Given the description of an element on the screen output the (x, y) to click on. 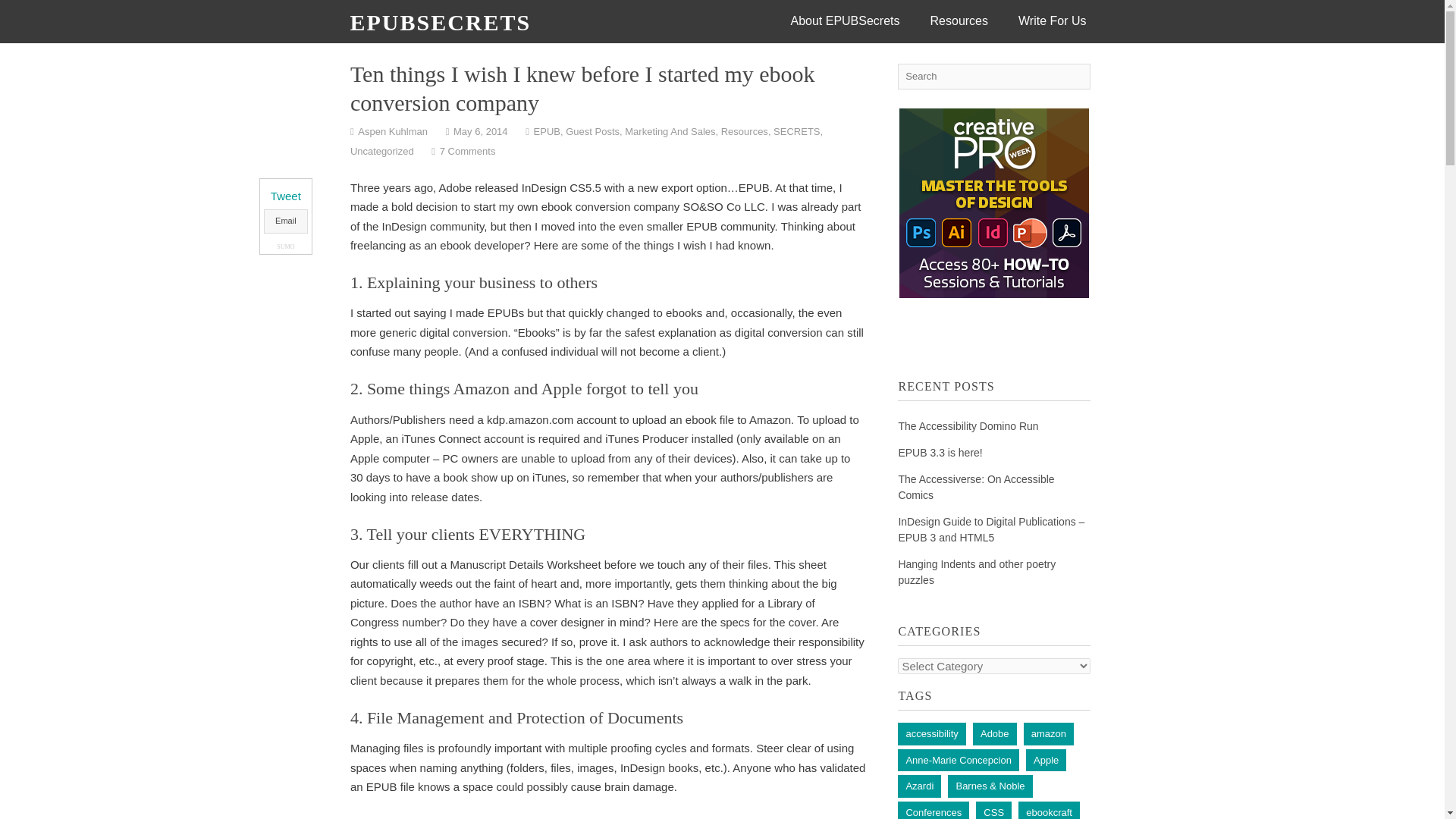
SUMO (285, 246)
About EPUBSecrets (844, 21)
Resources (744, 131)
EPUB (547, 131)
Uncategorized (381, 151)
Guest Posts (593, 131)
SECRETS (796, 131)
EPUBSECRETS (440, 22)
Write For Us (1051, 21)
Email (285, 221)
